Given the description of an element on the screen output the (x, y) to click on. 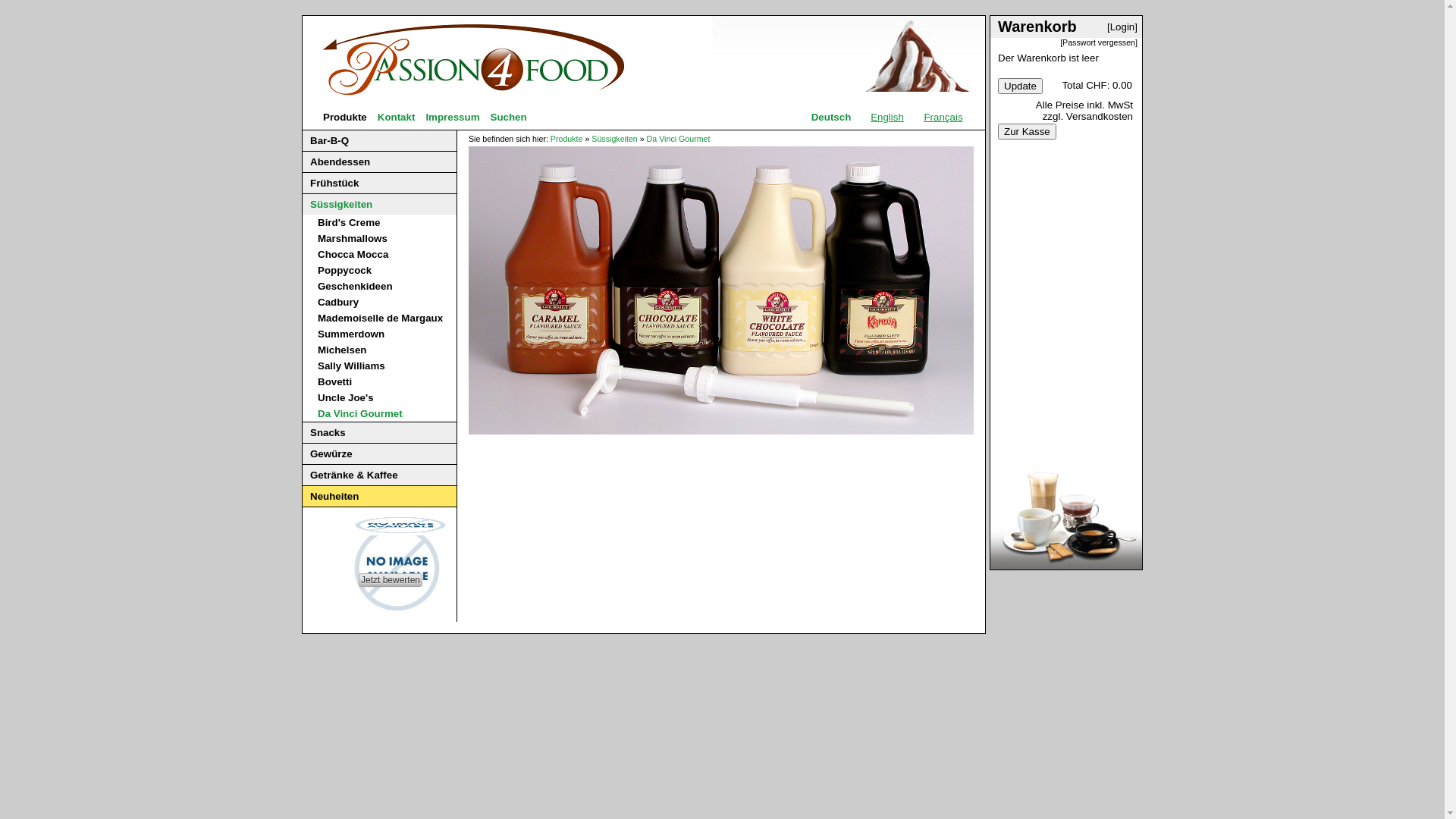
Produkte Element type: text (566, 138)
Kontakt Element type: text (396, 116)
Keine Produkte vorhanden Element type: hover (833, 255)
Suchen Element type: text (508, 116)
Marshmallows Element type: text (352, 238)
Impressum Element type: text (452, 116)
Da Vinci Gourmet Element type: text (678, 138)
Bovetti Element type: text (334, 381)
In den Warenkorb Element type: text (809, 271)
Zur Kasse Element type: text (1026, 131)
Bar-B-Q Element type: text (329, 140)
Abendessen Element type: text (340, 161)
Uncle Joe's Element type: text (345, 397)
Mademoiselle de Margaux Element type: text (379, 317)
Produkte Element type: text (345, 116)
English Element type: text (886, 116)
Snacks Element type: text (327, 432)
Poppycock Element type: text (344, 270)
Cadbury Element type: text (337, 301)
Bird's Creme Element type: text (348, 222)
Summerdown Element type: text (350, 333)
Bestellen Element type: text (884, 396)
Michelsen Element type: text (341, 349)
[Passwort vergessen] Element type: text (1101, 39)
Da Vinci Gourmet Element type: text (359, 413)
Sally Williams Element type: text (351, 365)
[Login] Element type: text (1124, 23)
Update Element type: text (1019, 86)
Deutsch Element type: text (831, 116)
Geschenkideen Element type: text (354, 285)
Chocca Mocca Element type: text (352, 254)
Neuheiten Element type: text (334, 496)
Jetzt bewerten Element type: text (390, 579)
